Given the description of an element on the screen output the (x, y) to click on. 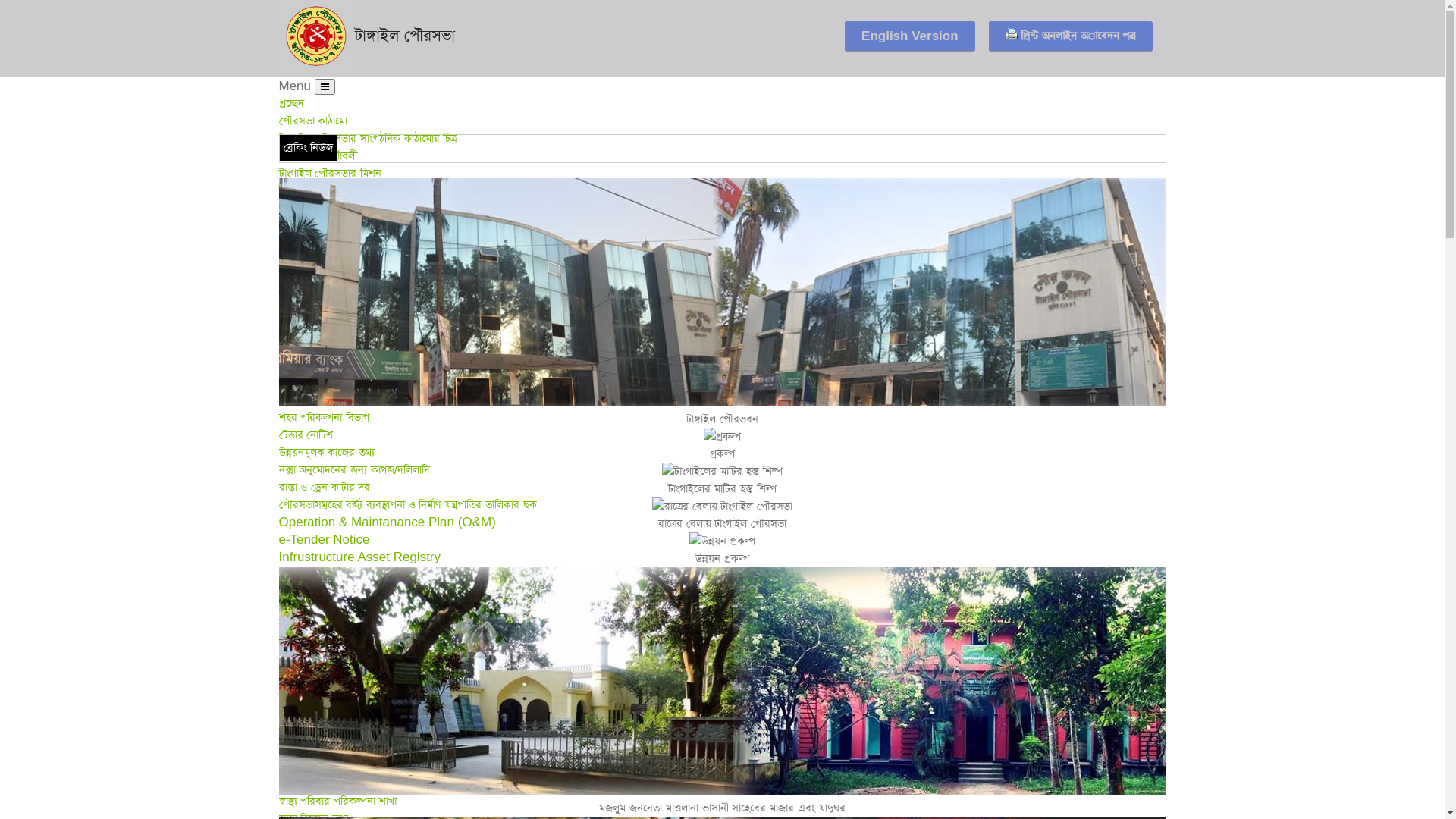
Infrustructure Assets Register Updated 2018 Element type: text (406, 574)
Capital Investment Plan (CIP) / 2015-2020 Element type: text (399, 591)
e-Tender Notice Element type: text (324, 539)
English Version Element type: text (909, 36)
Infrustructure Asset Registry Element type: text (360, 556)
Operation & Maintanance Plan (O&M) Element type: text (387, 521)
